Given the description of an element on the screen output the (x, y) to click on. 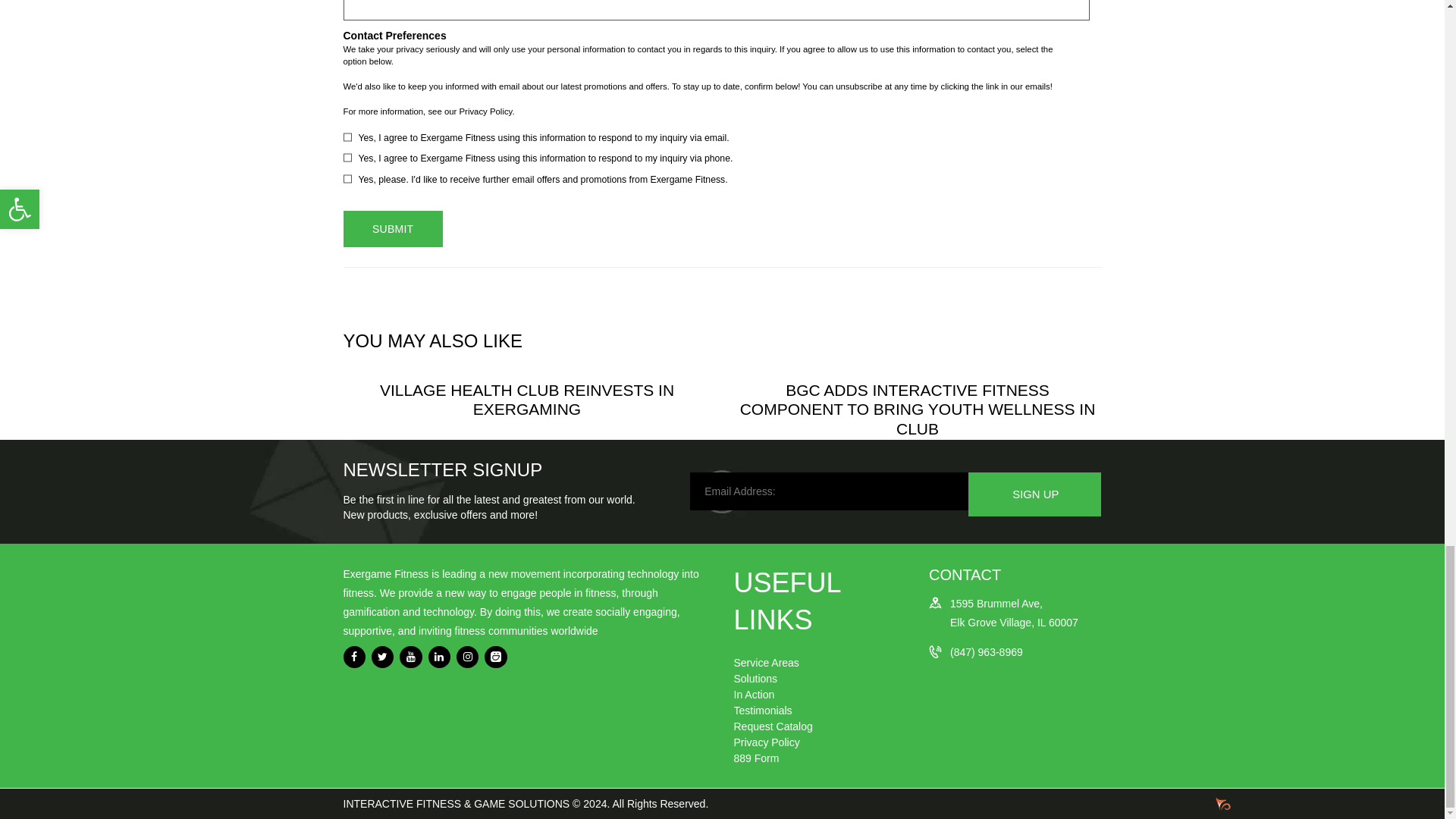
Submit (392, 228)
Designed By Webrowdy.com (1219, 804)
Sign up (1034, 493)
